Given the description of an element on the screen output the (x, y) to click on. 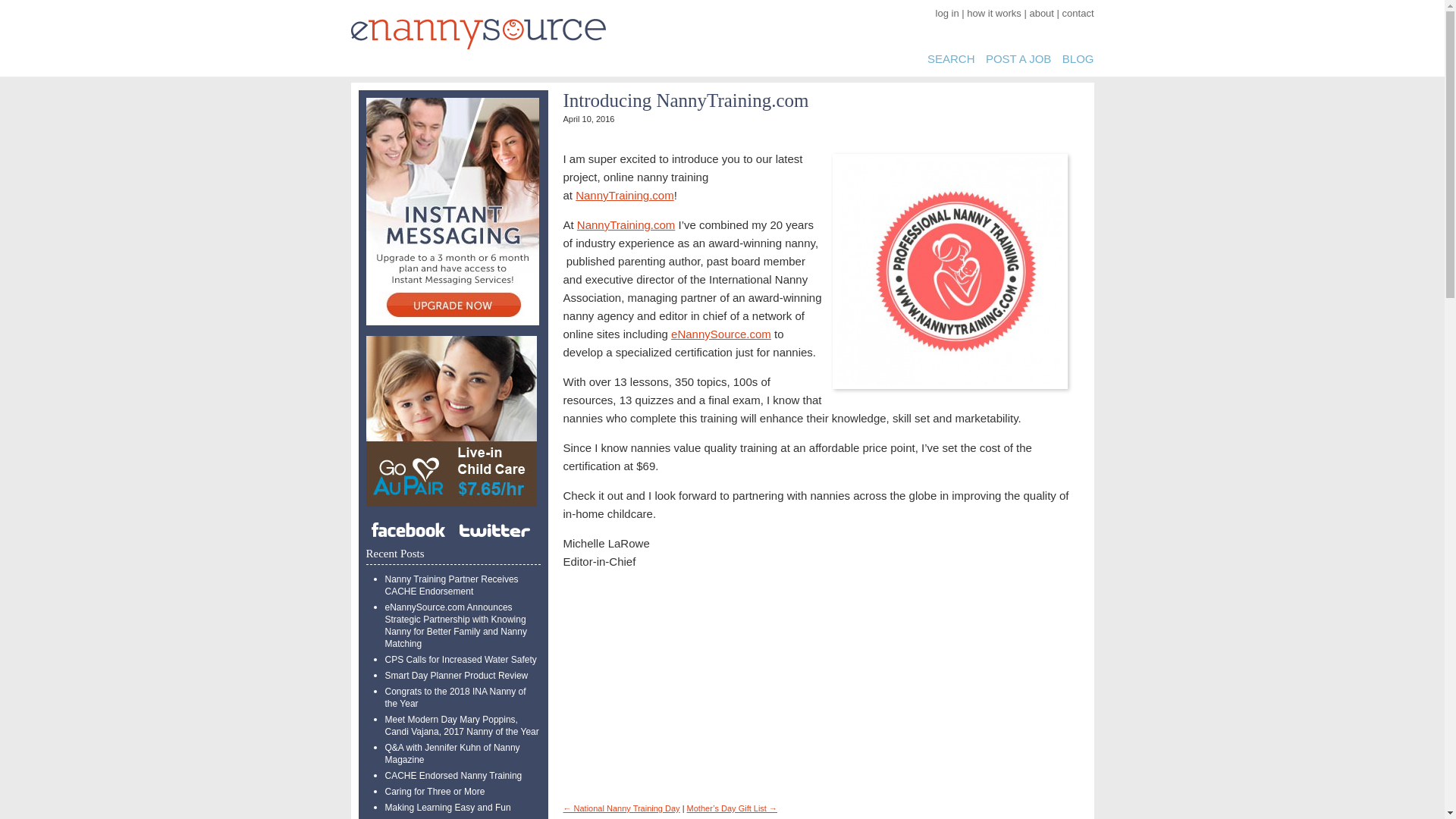
SEARCH (951, 58)
enannysource (477, 33)
Smart Day Planner Product Review (456, 675)
Nanny Training Partner Receives CACHE Endorsement (451, 585)
Caring for Three or More (434, 791)
contact (1078, 12)
how it works (994, 12)
POST A JOB (1018, 58)
BLOG (1078, 58)
